Given the description of an element on the screen output the (x, y) to click on. 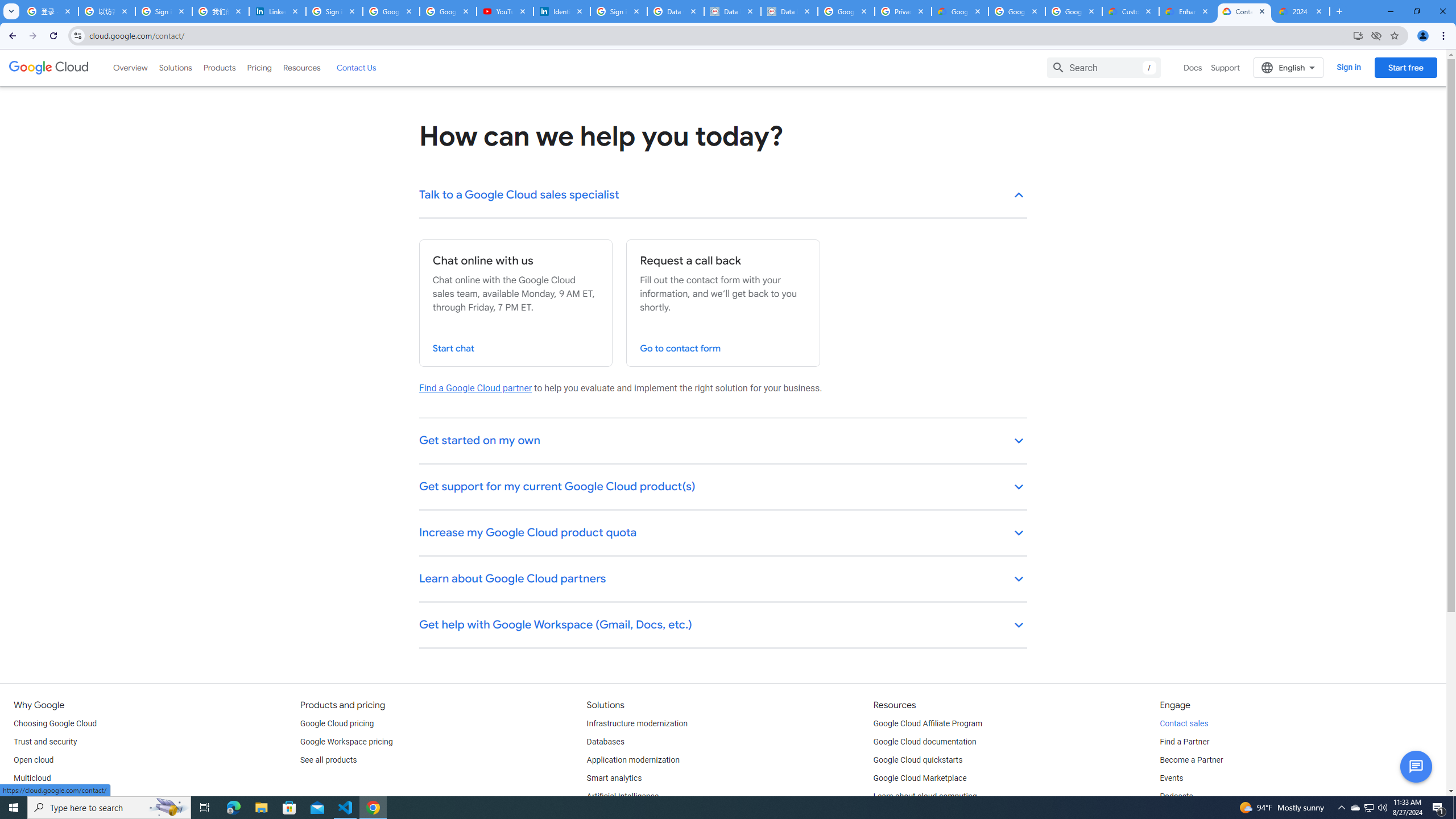
Contact Us (355, 67)
Multicloud (31, 778)
Google Workspace pricing (346, 742)
Learn about cloud computing (924, 796)
Data Privacy Framework (788, 11)
Docs (1192, 67)
Open cloud (33, 760)
Learn about Google Cloud partners keyboard_arrow_down (723, 579)
